Given the description of an element on the screen output the (x, y) to click on. 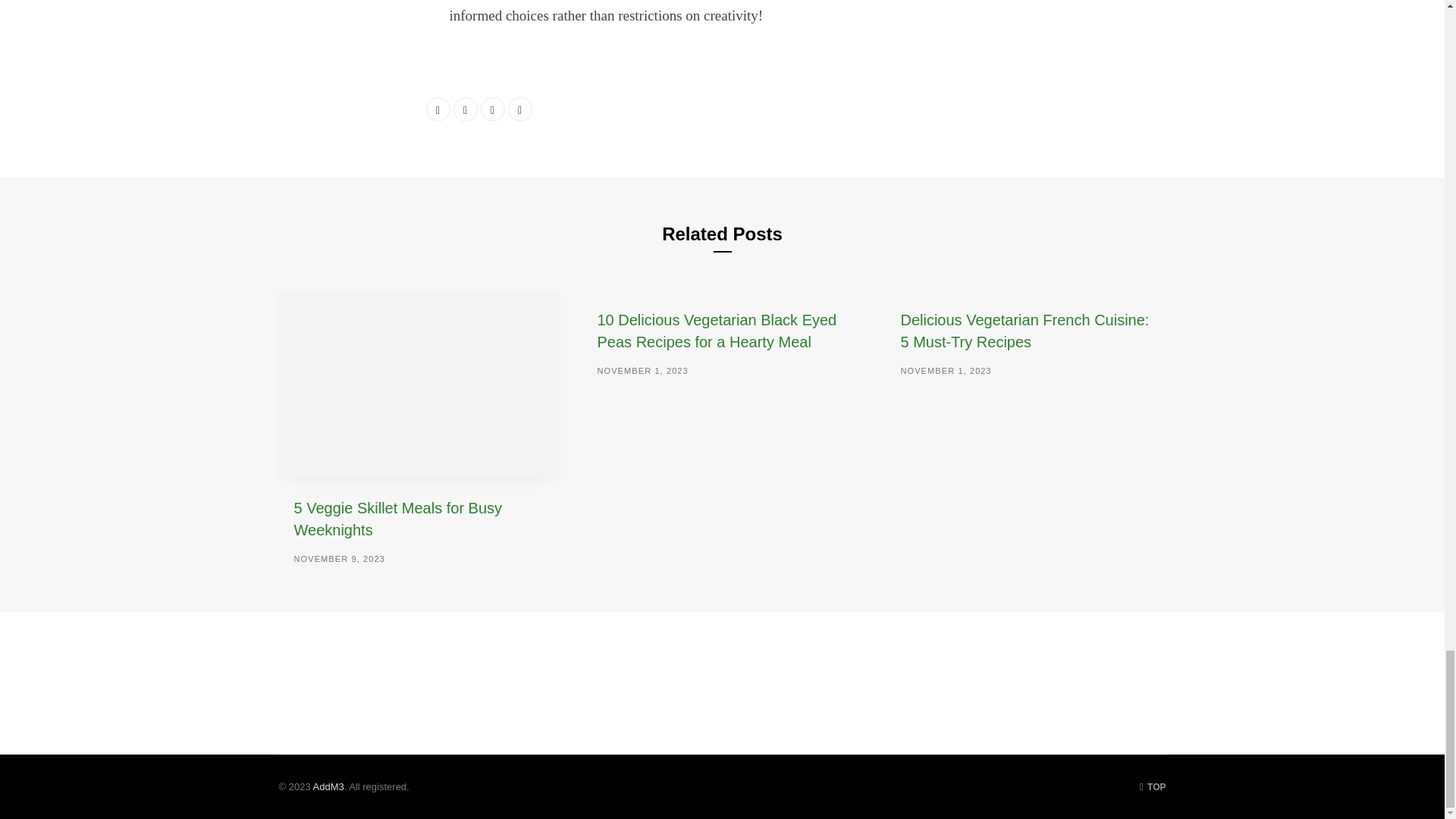
5 Veggie Skillet Meals for Busy Weeknights (419, 383)
Share on Facebook (437, 109)
AddM3 (328, 786)
5 Veggie Skillet Meals for Busy Weeknights (398, 518)
Share on Twitter (464, 109)
TOP (1153, 786)
Pinterest (520, 109)
LinkedIn (492, 109)
Delicious Vegetarian French Cuisine: 5 Must-Try Recipes (1023, 331)
